Given the description of an element on the screen output the (x, y) to click on. 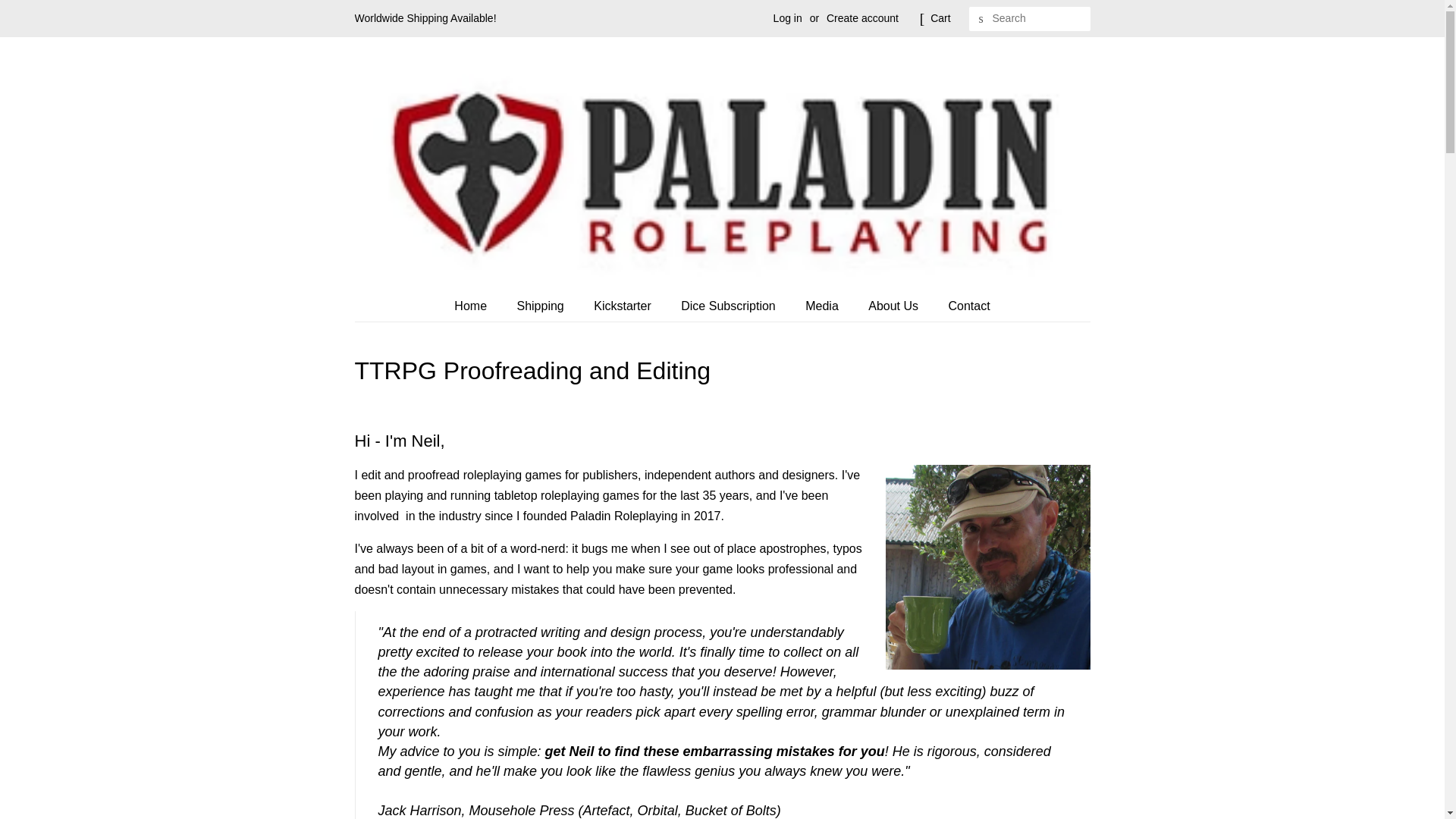
Search (980, 18)
Media (823, 305)
Dice Subscription (729, 305)
Shipping (541, 305)
Log in (787, 18)
Worldwide Shipping Available! (425, 18)
Cart (940, 18)
Contact (963, 305)
Kickstarter (624, 305)
Home (478, 305)
